Given the description of an element on the screen output the (x, y) to click on. 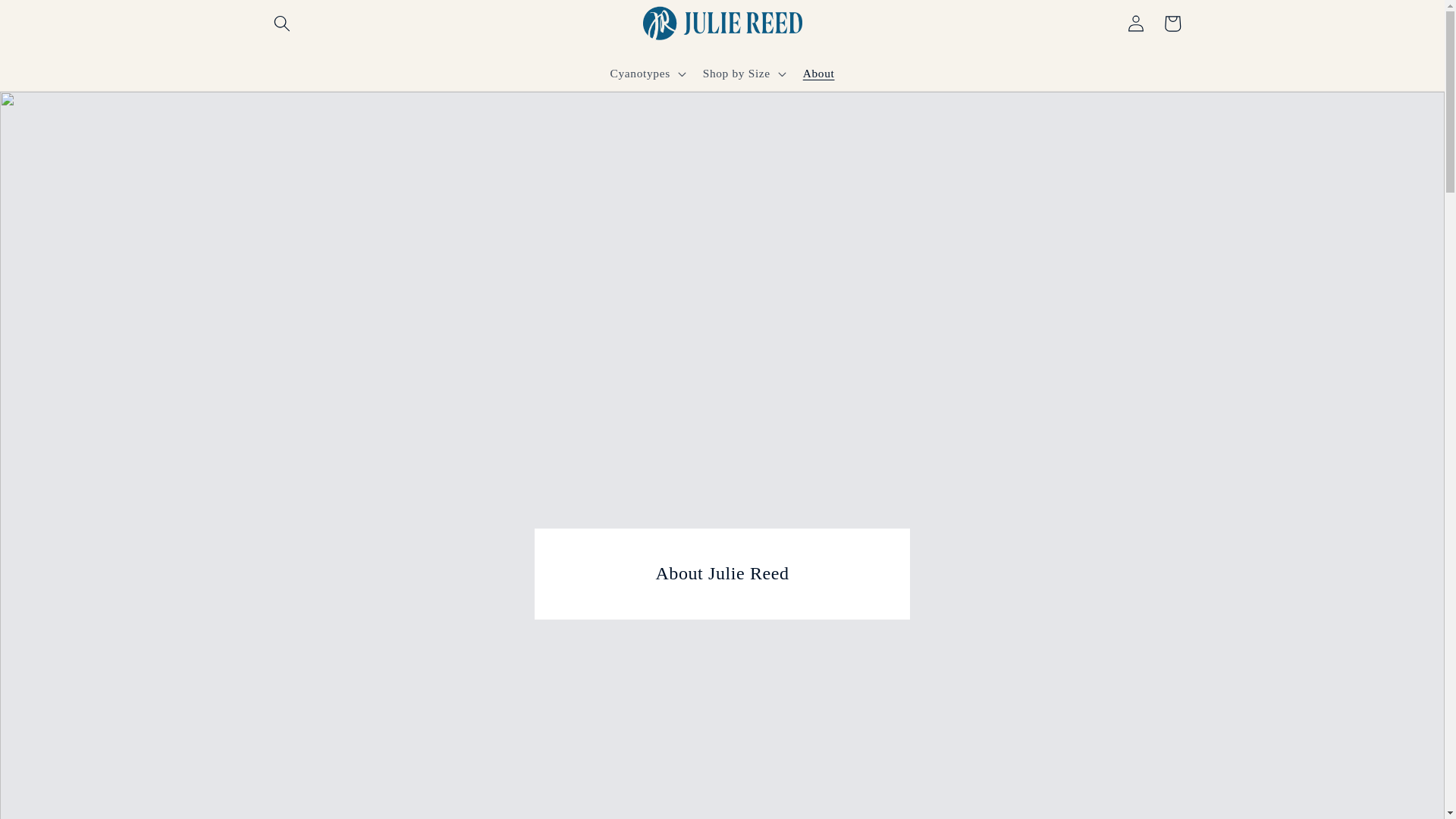
Log in (1136, 22)
About (818, 73)
Cart (1172, 22)
Skip to content (50, 19)
